Given the description of an element on the screen output the (x, y) to click on. 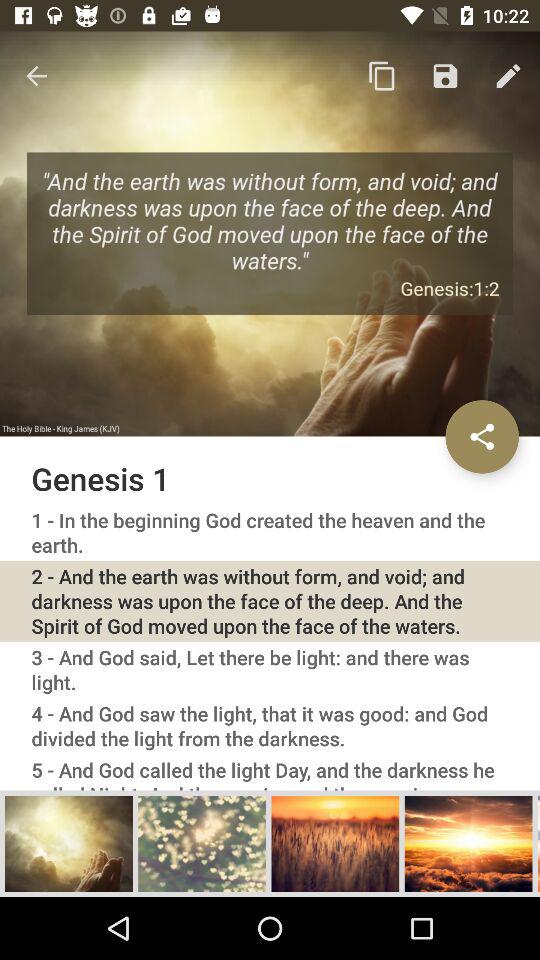
press icon on the right (482, 436)
